Given the description of an element on the screen output the (x, y) to click on. 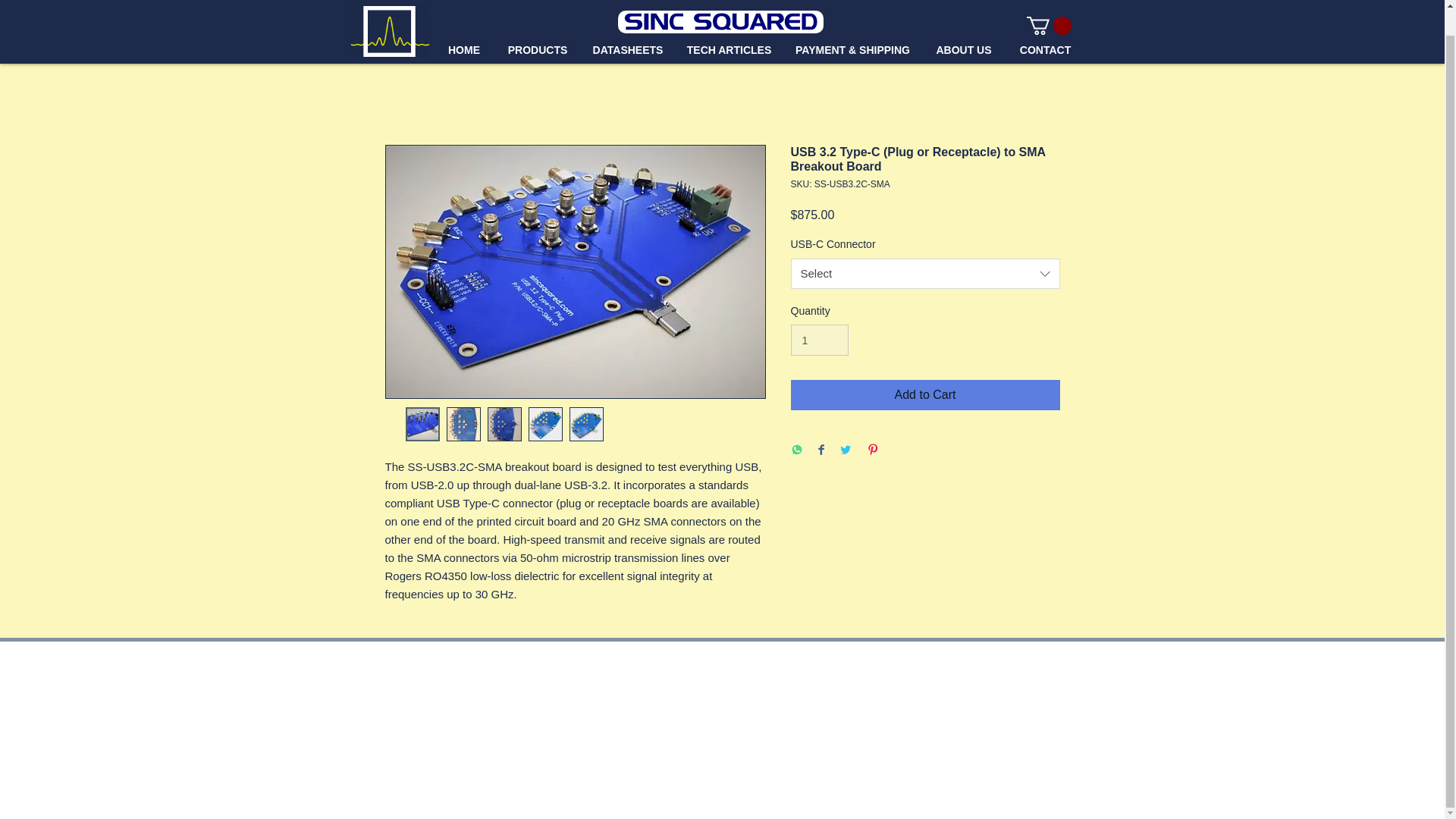
ABOUT US (962, 24)
CONTACT (1046, 24)
1 (818, 339)
PRODUCTS (537, 24)
Add to Cart (924, 395)
HOME (464, 24)
Select (924, 273)
